Given the description of an element on the screen output the (x, y) to click on. 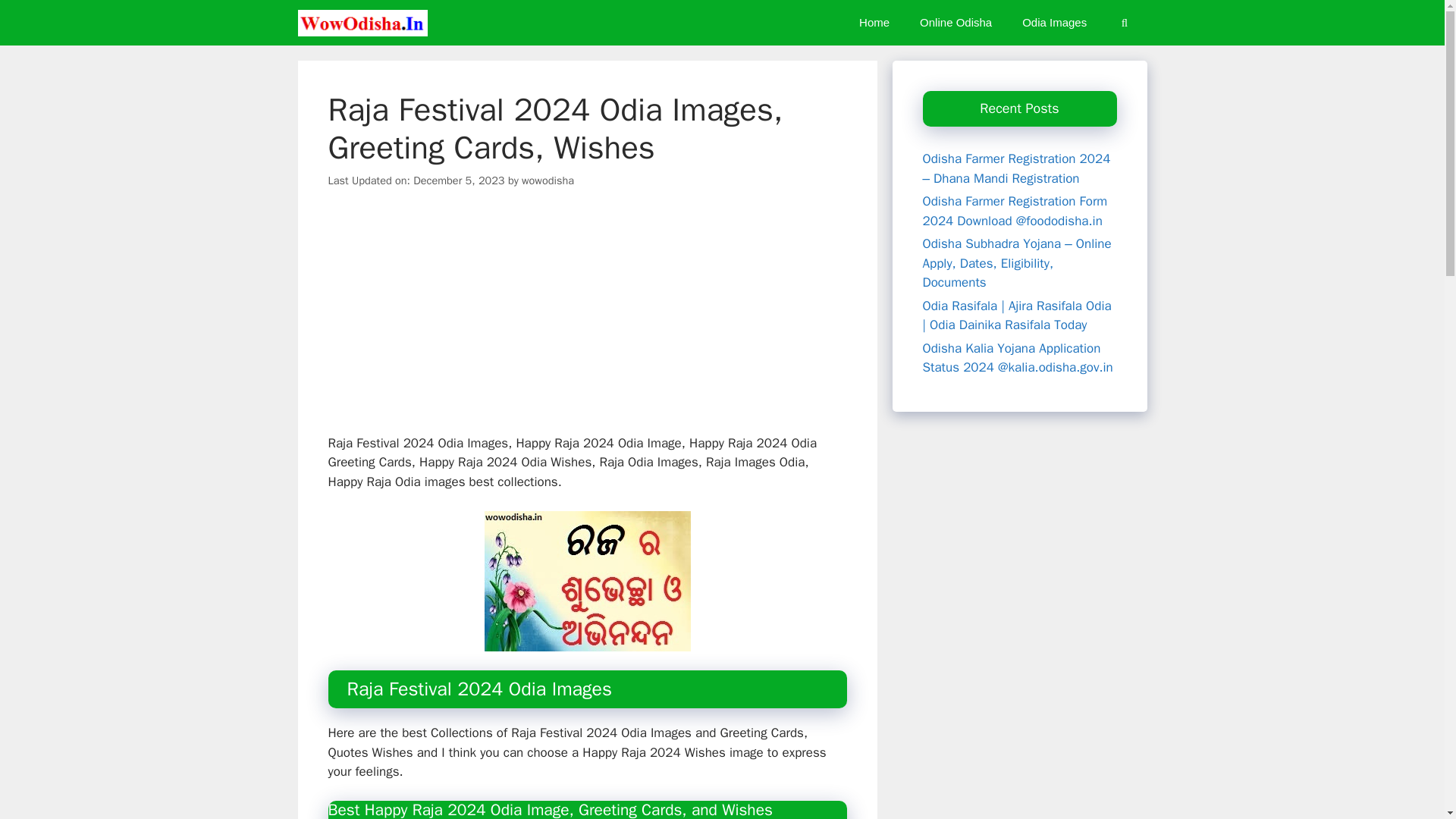
WowOdisha.In (362, 22)
Home (874, 22)
wowodisha (547, 180)
Advertisement (592, 321)
View all posts by wowodisha (547, 180)
WowOdisha.In (366, 22)
Online Odisha (955, 22)
Odia Images (1054, 22)
